Given the description of an element on the screen output the (x, y) to click on. 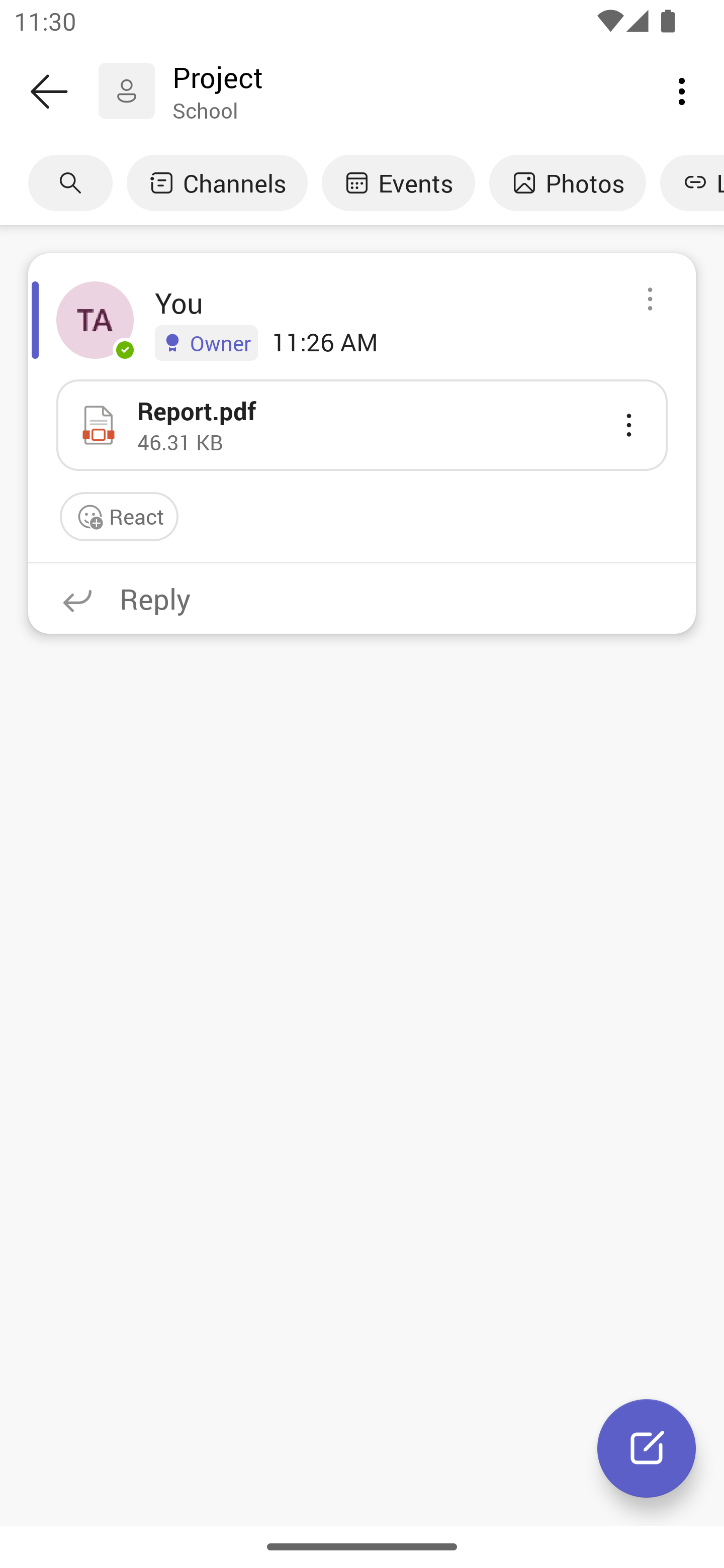
Back Project. School Project School More options (362, 91)
Back (49, 91)
More options (681, 90)
Search tab, 1 of 6 (70, 183)
Channels tab, 2 of 6 Channels (216, 183)
Events tab, 3 of 6 Events (397, 183)
Photos tab, 4 of 6 Photos (567, 183)
Message options button (650, 299)
Test Appium profile picture, Status: Available (94, 319)
You (178, 302)
Owner (205, 342)
File options (628, 424)
Open reactions React (119, 516)
Reply (361, 597)
New conversation (646, 1447)
